Given the description of an element on the screen output the (x, y) to click on. 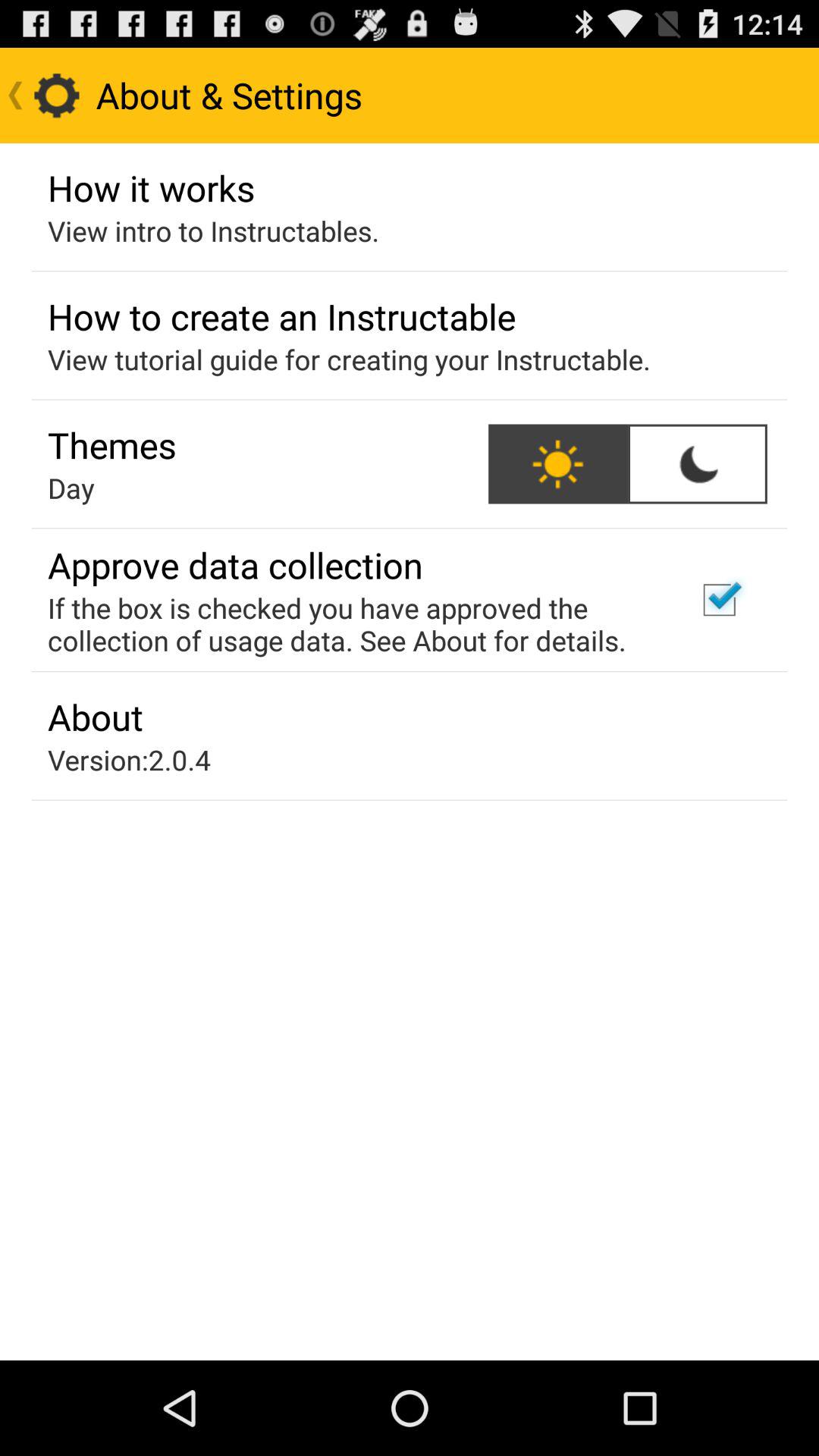
swipe until day (70, 487)
